Given the description of an element on the screen output the (x, y) to click on. 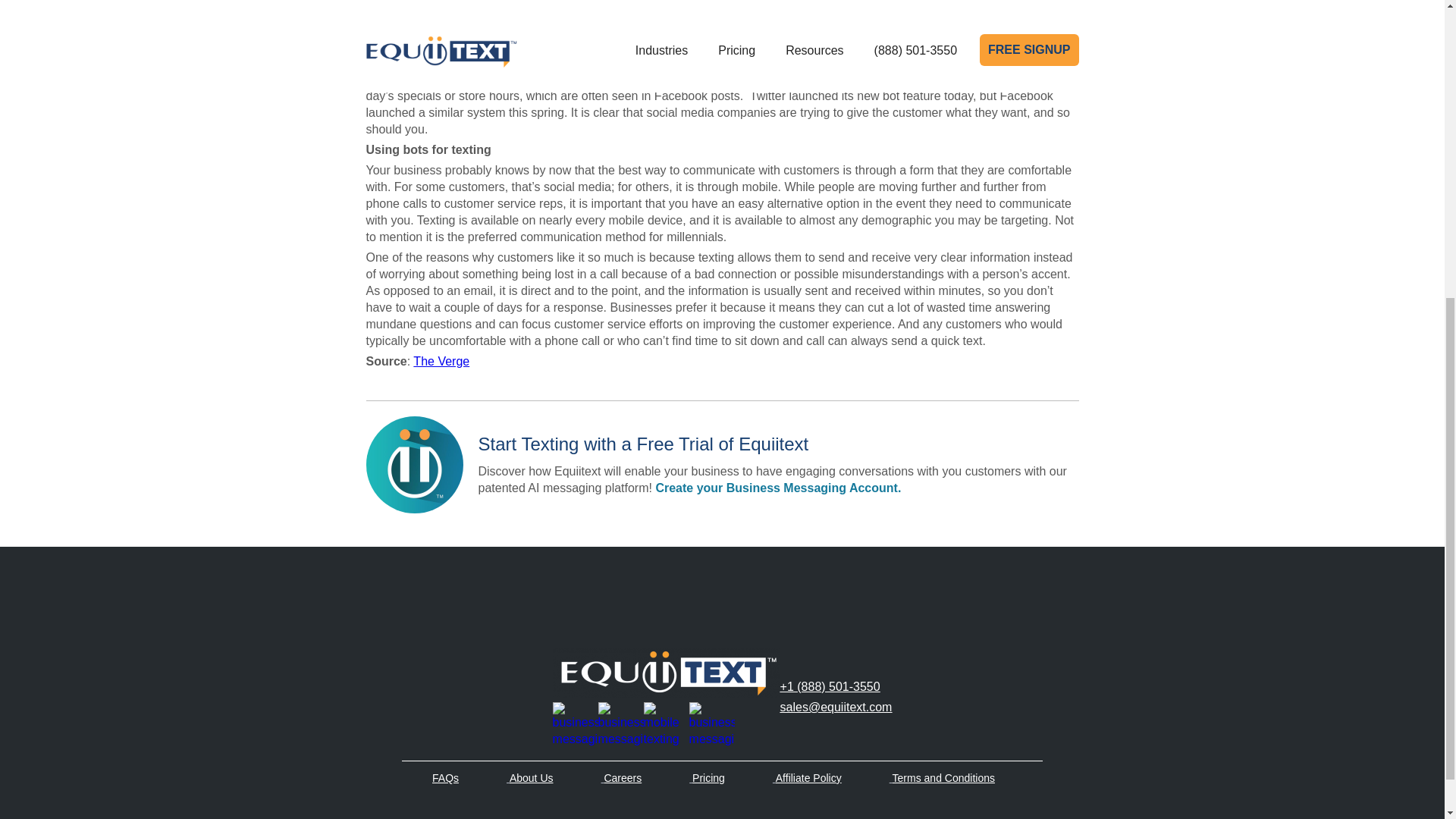
Terms and Conditions (943, 777)
Create your Business Messaging Account. (776, 487)
The Verge (440, 360)
Careers (623, 777)
About Us (531, 777)
FAQs (445, 777)
Affiliate Policy (808, 777)
Pricing (709, 777)
